Given the description of an element on the screen output the (x, y) to click on. 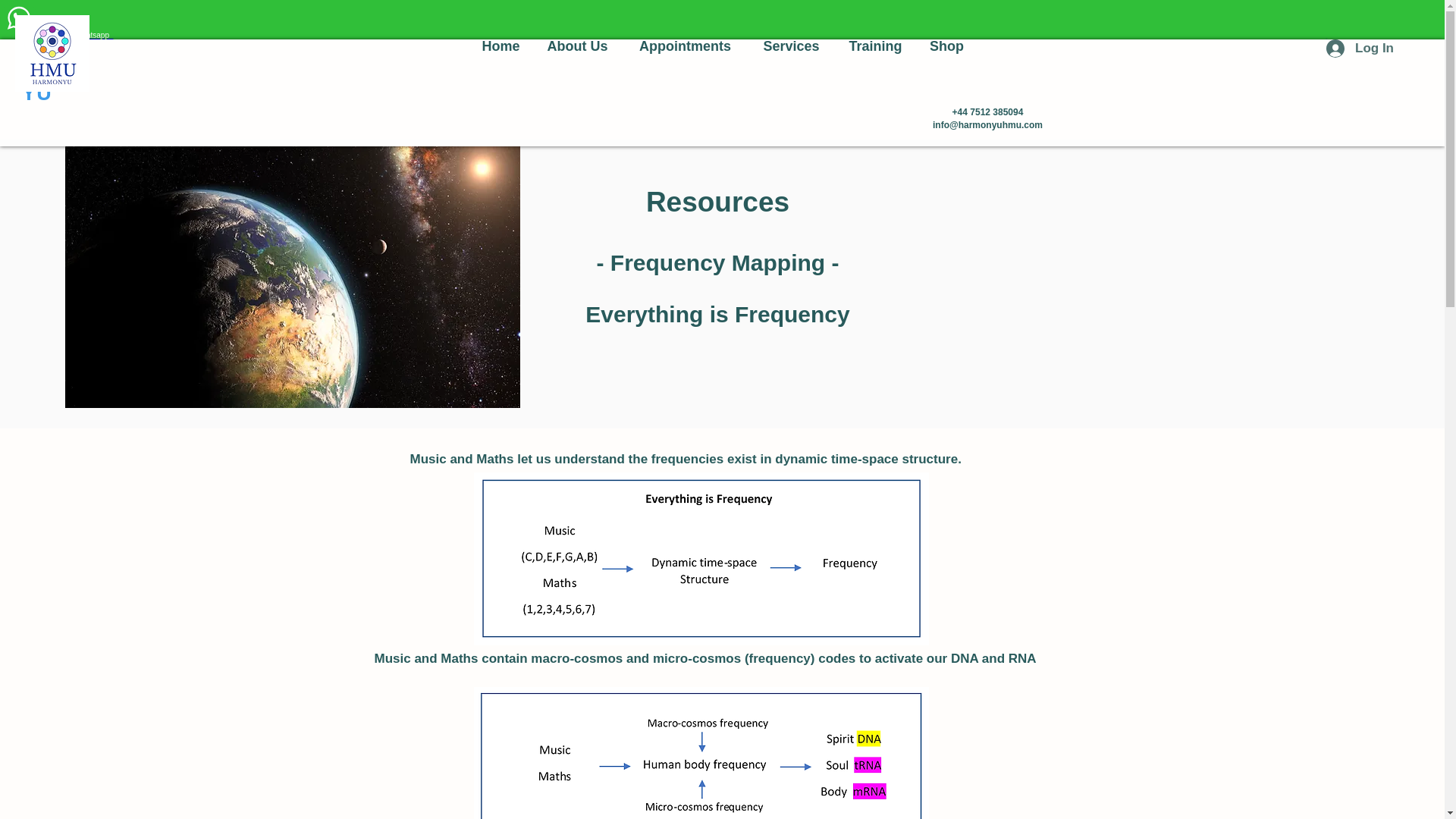
Log In (1359, 48)
About Us (577, 46)
HARMONYU (46, 69)
Shop (946, 46)
Training (875, 46)
Appointments (685, 46)
Home (501, 46)
Services (791, 46)
